Given the description of an element on the screen output the (x, y) to click on. 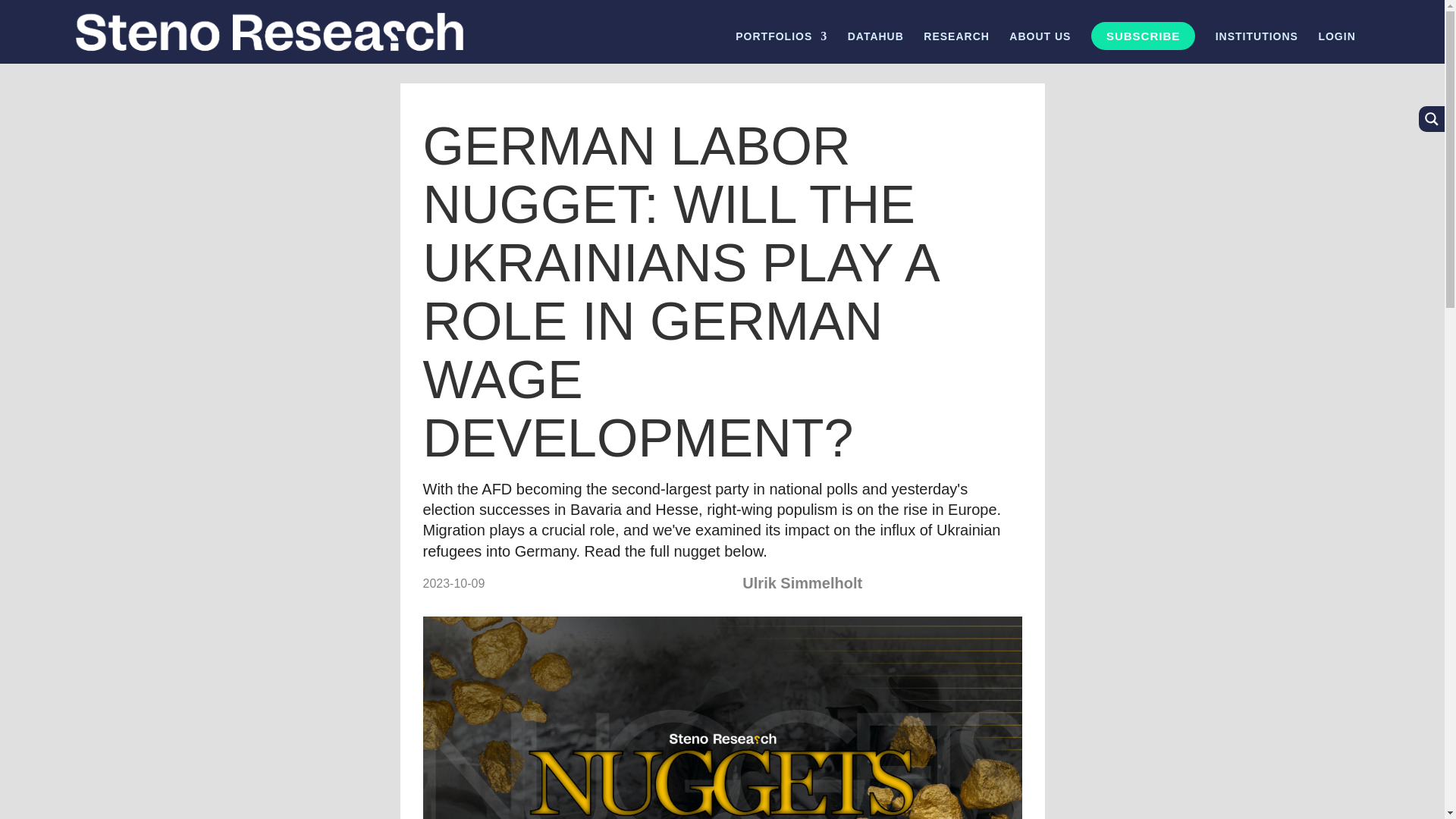
DATAHUB (875, 47)
PORTFOLIOS (781, 47)
SUBSCRIBE (1142, 35)
Nuggets (722, 717)
Ulrik Simmelholt (801, 582)
RESEARCH (956, 47)
ABOUT US (1039, 47)
INSTITUTIONS (1256, 47)
LOGIN (1336, 47)
